Given the description of an element on the screen output the (x, y) to click on. 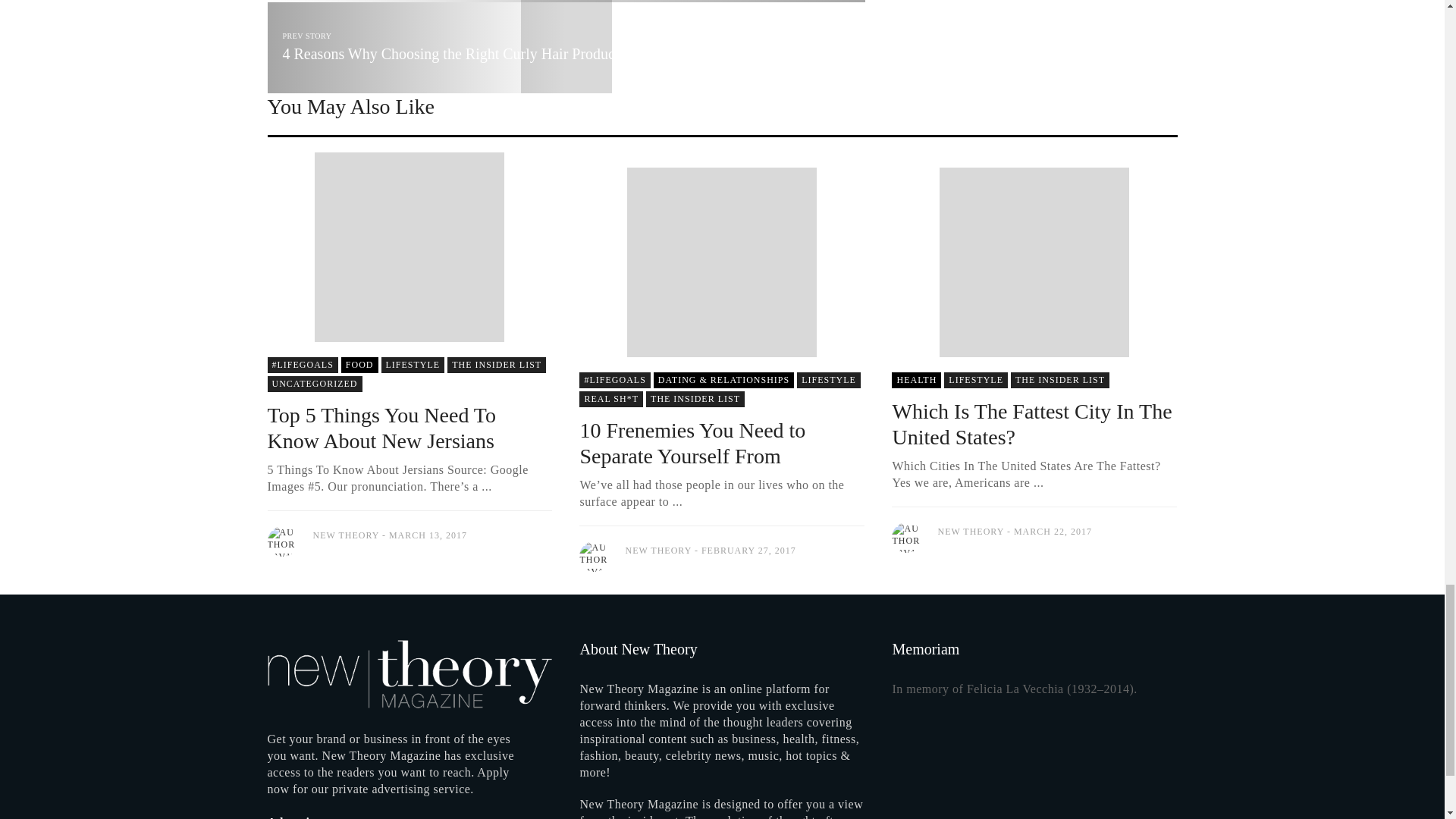
View all posts in 187 (723, 380)
View all posts in 143 (614, 380)
View all posts in 936 (611, 399)
View all posts in 1 (313, 383)
View all posts in 3385 (413, 365)
View all posts in 3034 (496, 365)
View all posts in 143 (301, 365)
View all posts in 3040 (359, 365)
View all posts in 3385 (828, 380)
